Given the description of an element on the screen output the (x, y) to click on. 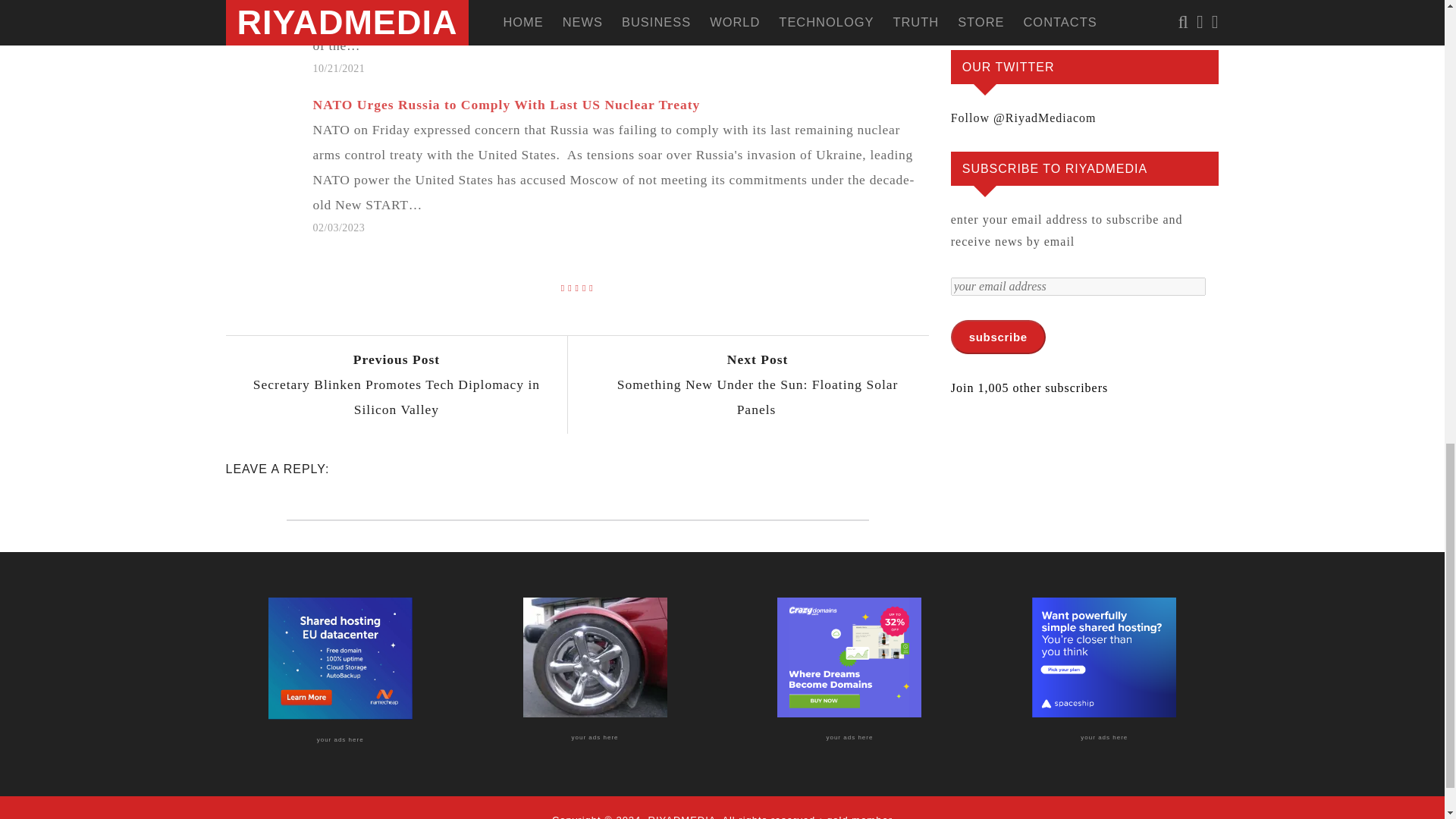
NATO Urges Russia to Comply With Last US Nuclear Treaty (506, 104)
NATO Urges Russia to Comply With Last US Nuclear Treaty (506, 104)
NATO Urges Russia to Comply With Last US Nuclear Treaty (628, 165)
